Given the description of an element on the screen output the (x, y) to click on. 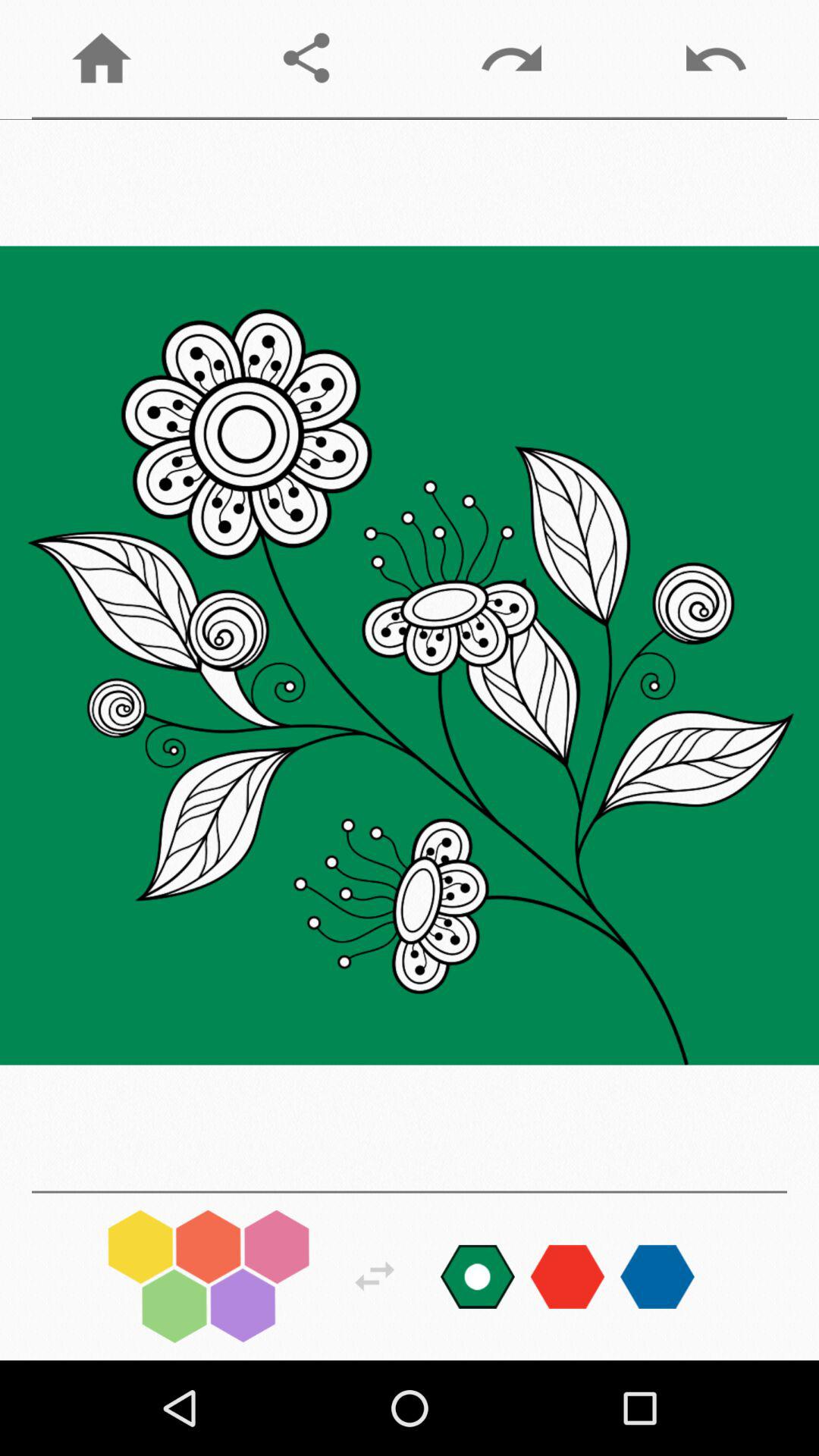
go to refresh (374, 1276)
